Given the description of an element on the screen output the (x, y) to click on. 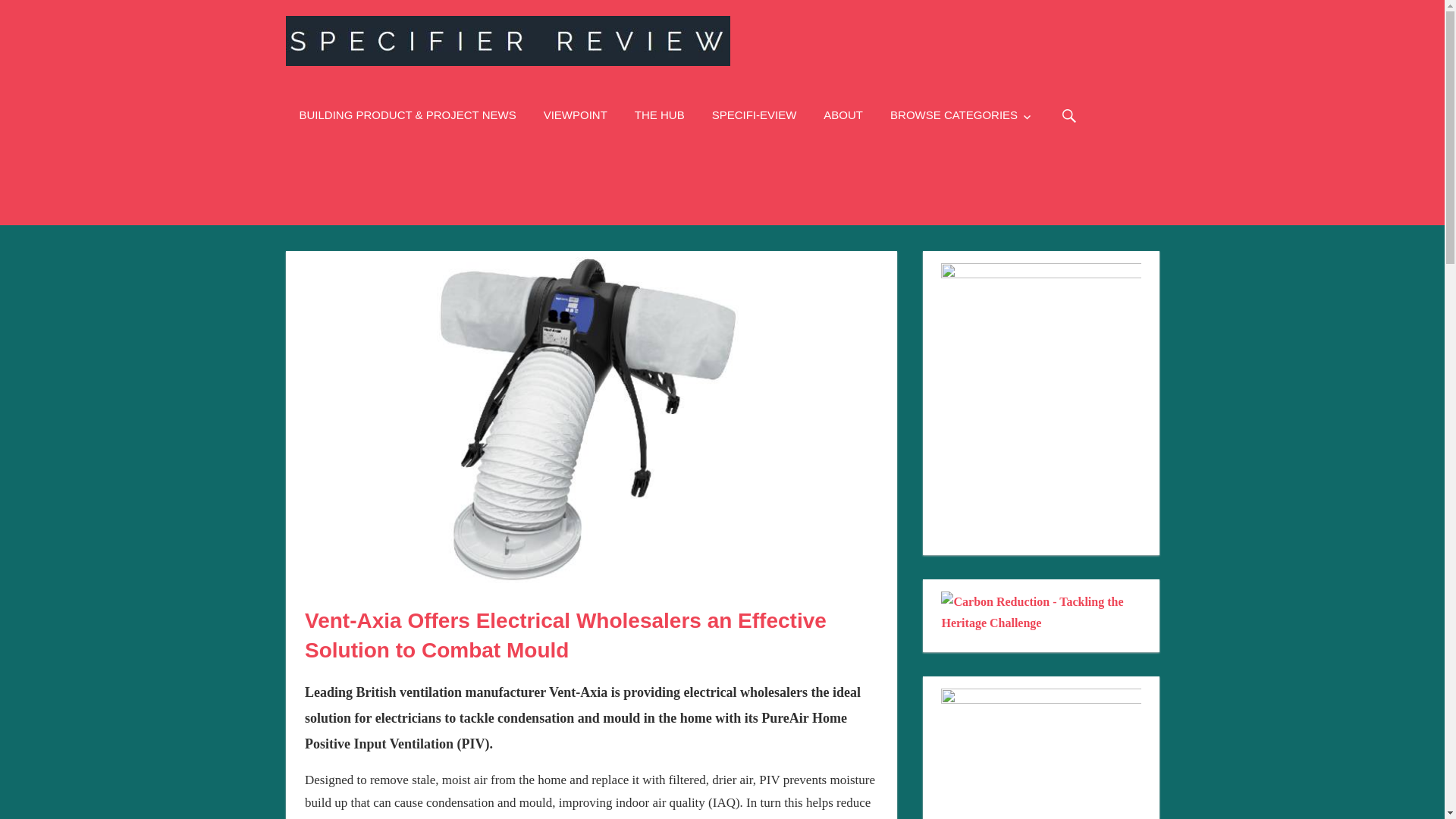
THE HUB (659, 114)
SPECIFI-EVIEW (754, 114)
BROWSE CATEGORIES (961, 114)
ABOUT (842, 114)
Subscribe (754, 114)
VIEWPOINT (575, 114)
Sustainable solutions for the built environment (659, 114)
